Given the description of an element on the screen output the (x, y) to click on. 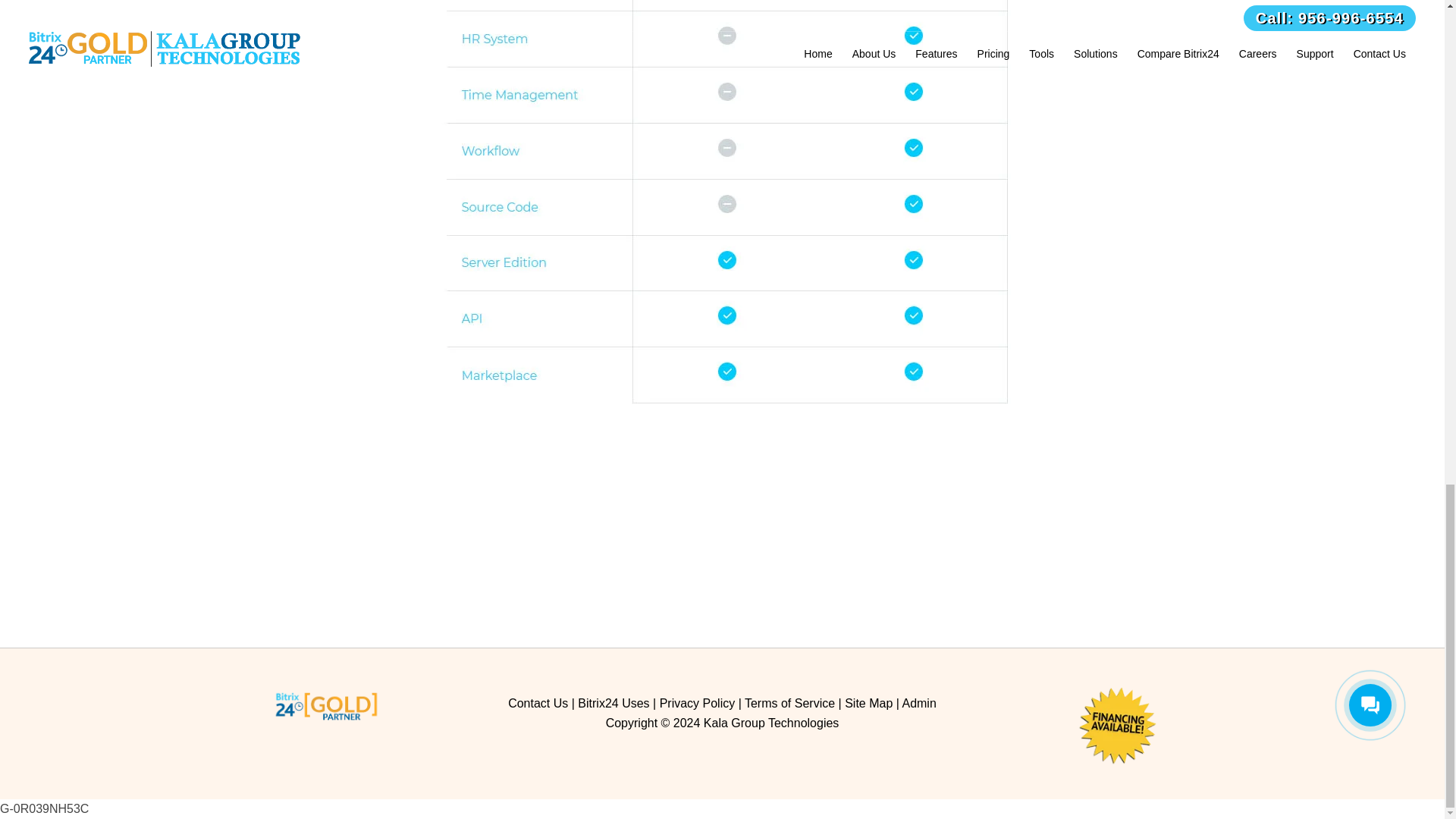
Bitrix24 Uses (613, 703)
Terms of Service (789, 703)
Site Map (868, 703)
Contact Us (537, 703)
Admin (918, 703)
Privacy Policy (697, 703)
